Given the description of an element on the screen output the (x, y) to click on. 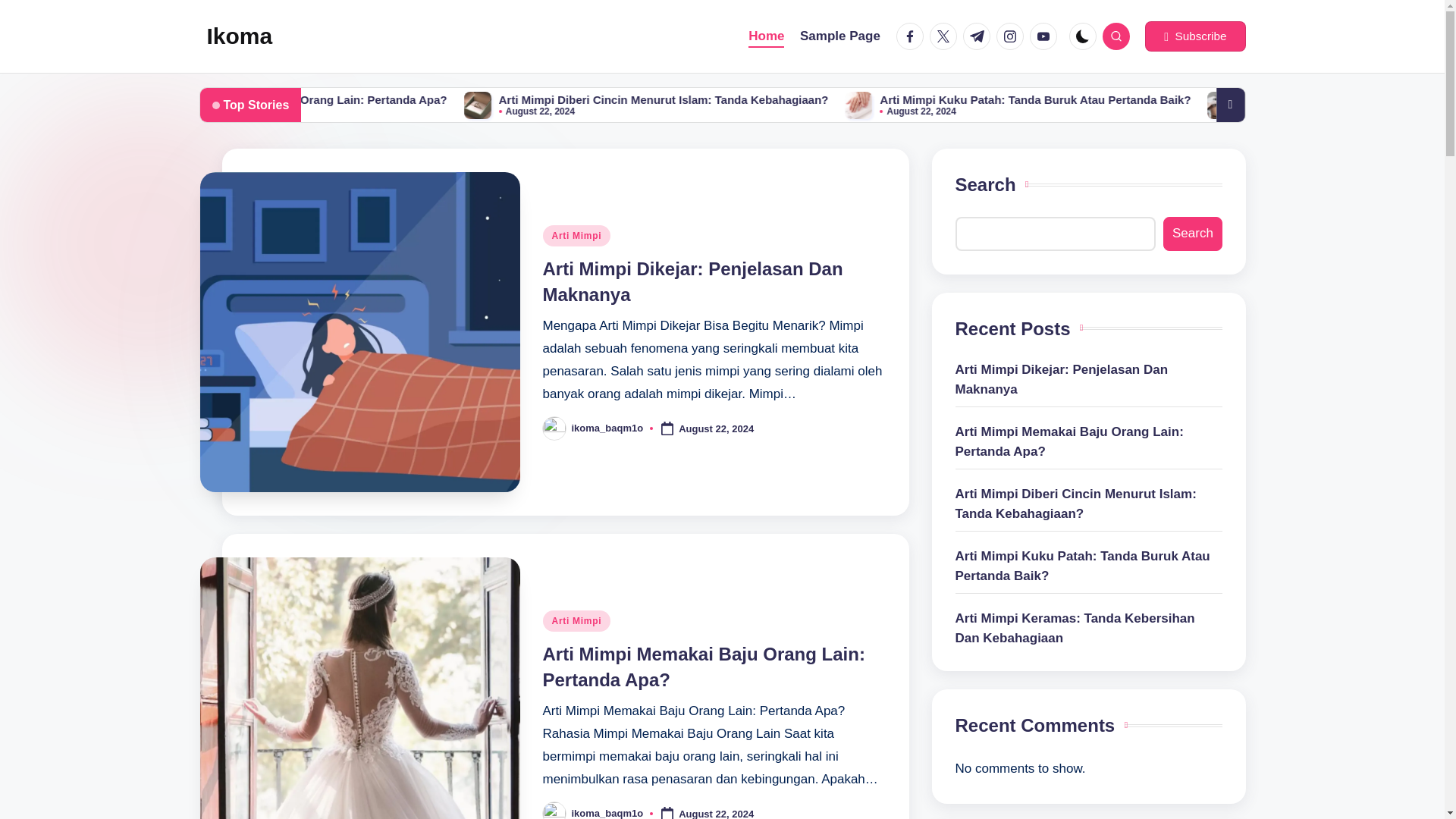
t.me (978, 35)
Arti Mimpi Diberi Cincin Menurut Islam: Tanda Kebahagiaan? (715, 104)
Arti Mimpi Diberi Cincin Menurut Islam: Tanda Kebahagiaan? (1010, 99)
Sample Page (839, 36)
instagram.com (1012, 35)
Arti Mimpi Memakai Baju Orang Lain: Pertanda Apa? (384, 104)
Arti Mimpi Memakai Baju Orang Lain: Pertanda Apa? (664, 99)
twitter.com (946, 35)
Arti Mimpi Kuku Patah: Tanda Buruk Atau Pertanda Baik? (1093, 104)
Ikoma (239, 36)
